Given the description of an element on the screen output the (x, y) to click on. 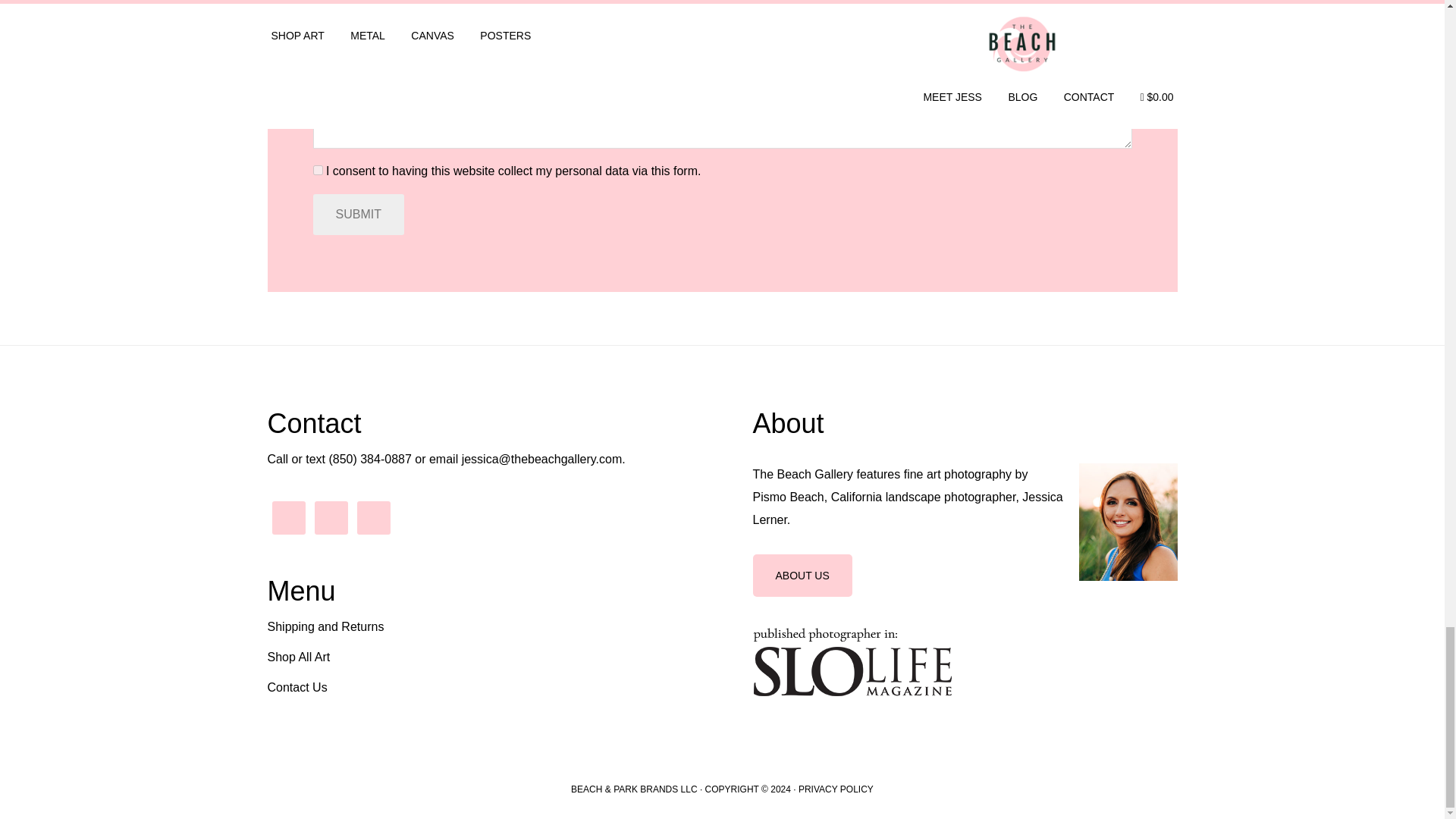
yes (317, 170)
